Given the description of an element on the screen output the (x, y) to click on. 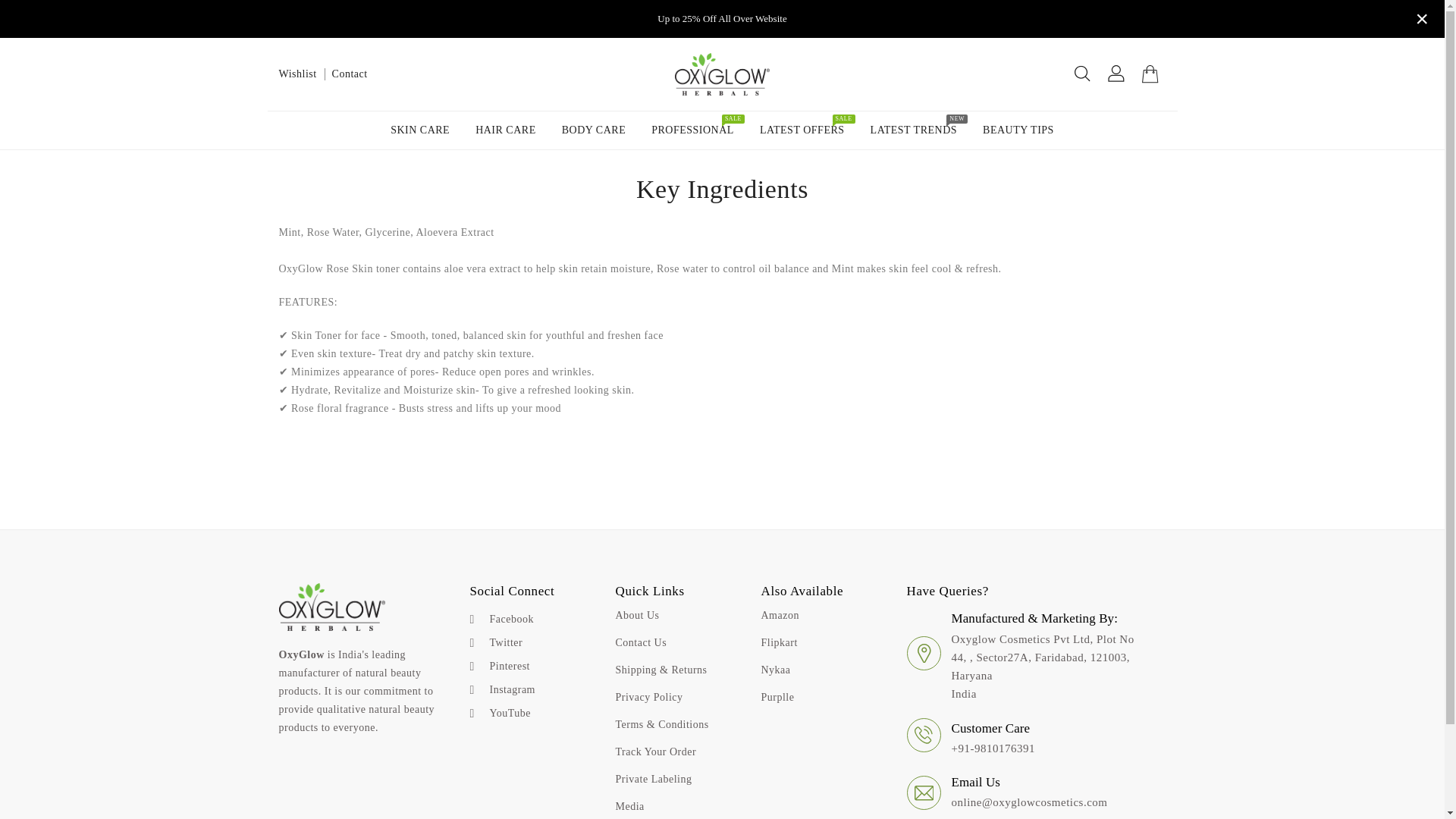
Wishlist (298, 73)
SKIP TO CONTENT (802, 130)
BODY CARE (914, 130)
Contact (19, 7)
BEAUTY TIPS (593, 130)
SKIN CARE (349, 73)
HAIR CARE (692, 130)
